Given the description of an element on the screen output the (x, y) to click on. 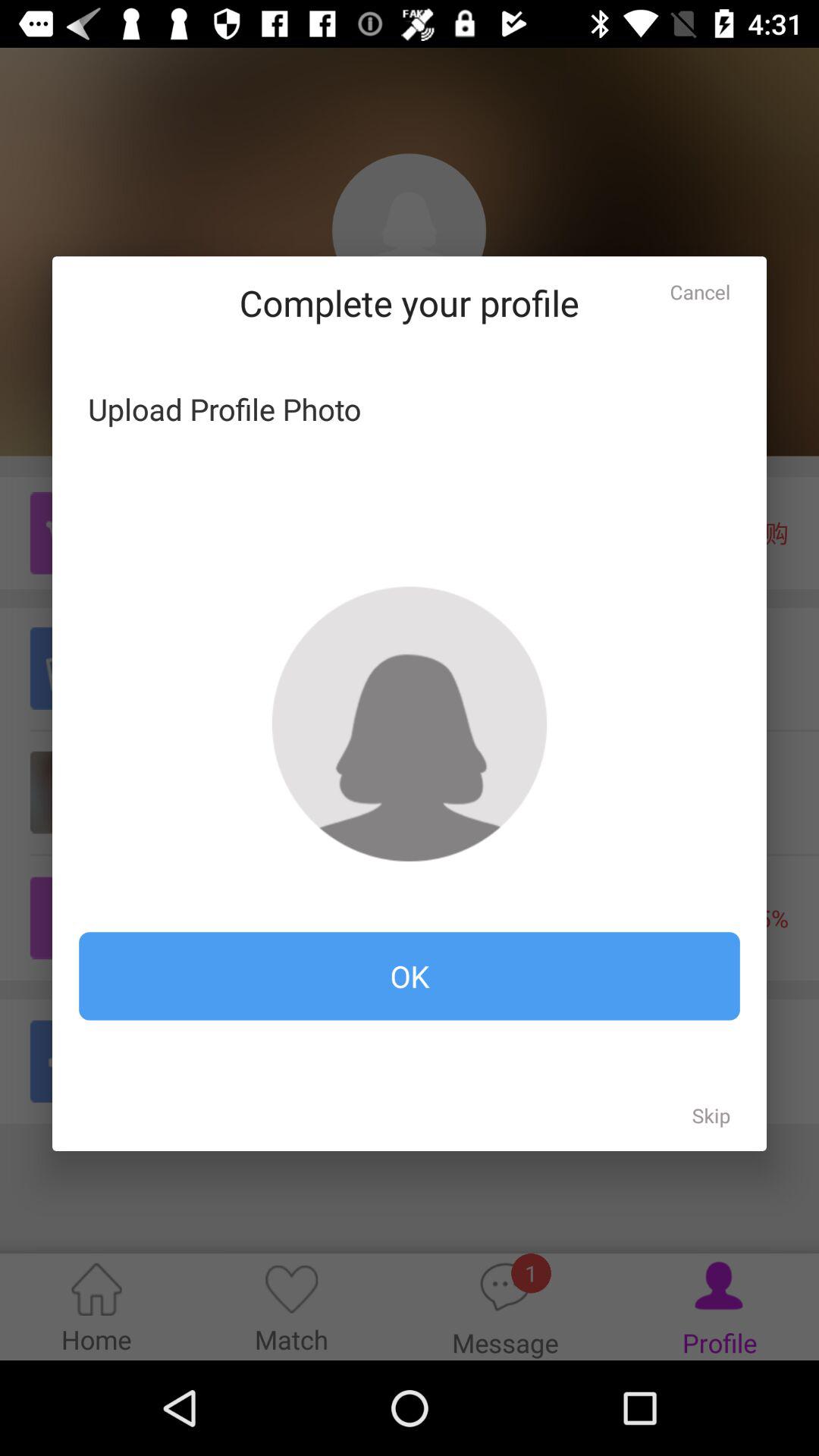
flip to skip icon (711, 1115)
